Given the description of an element on the screen output the (x, y) to click on. 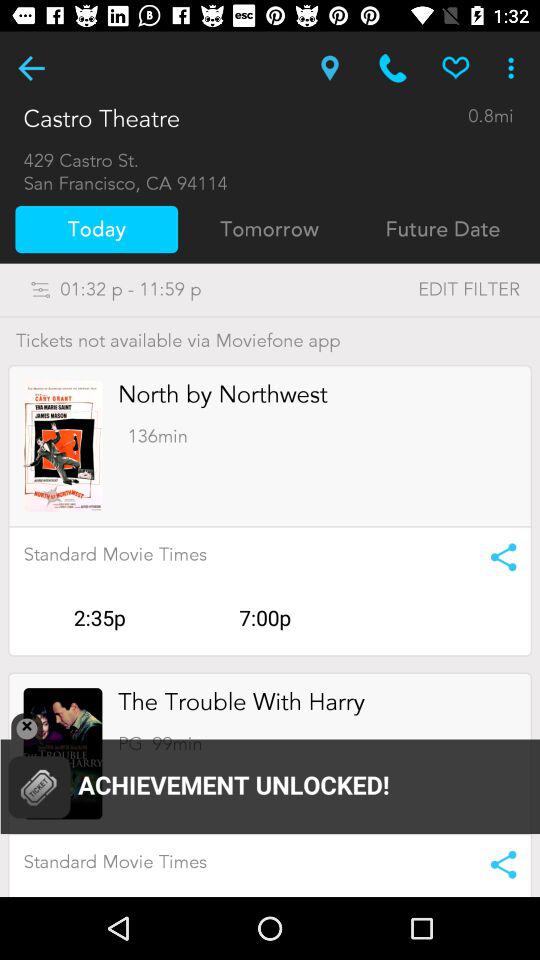
advertisement image (62, 445)
